Given the description of an element on the screen output the (x, y) to click on. 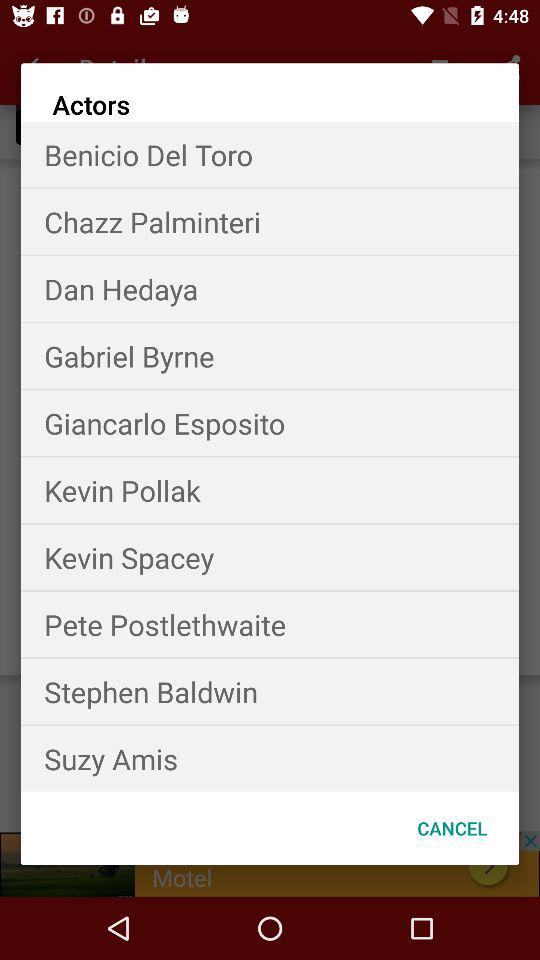
select the    kevin spacey (269, 557)
